Given the description of an element on the screen output the (x, y) to click on. 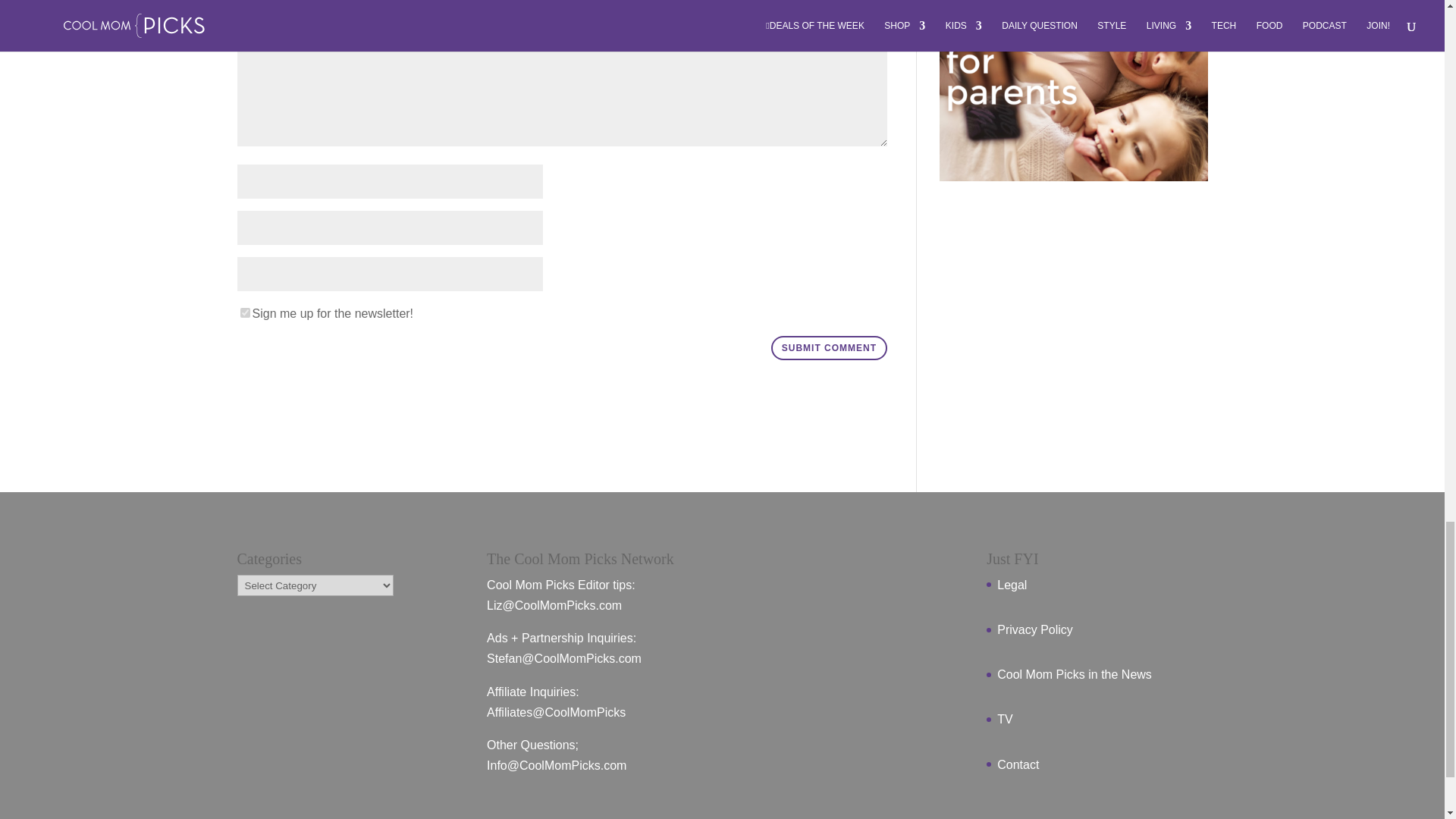
Submit Comment (828, 347)
1 (244, 312)
